Given the description of an element on the screen output the (x, y) to click on. 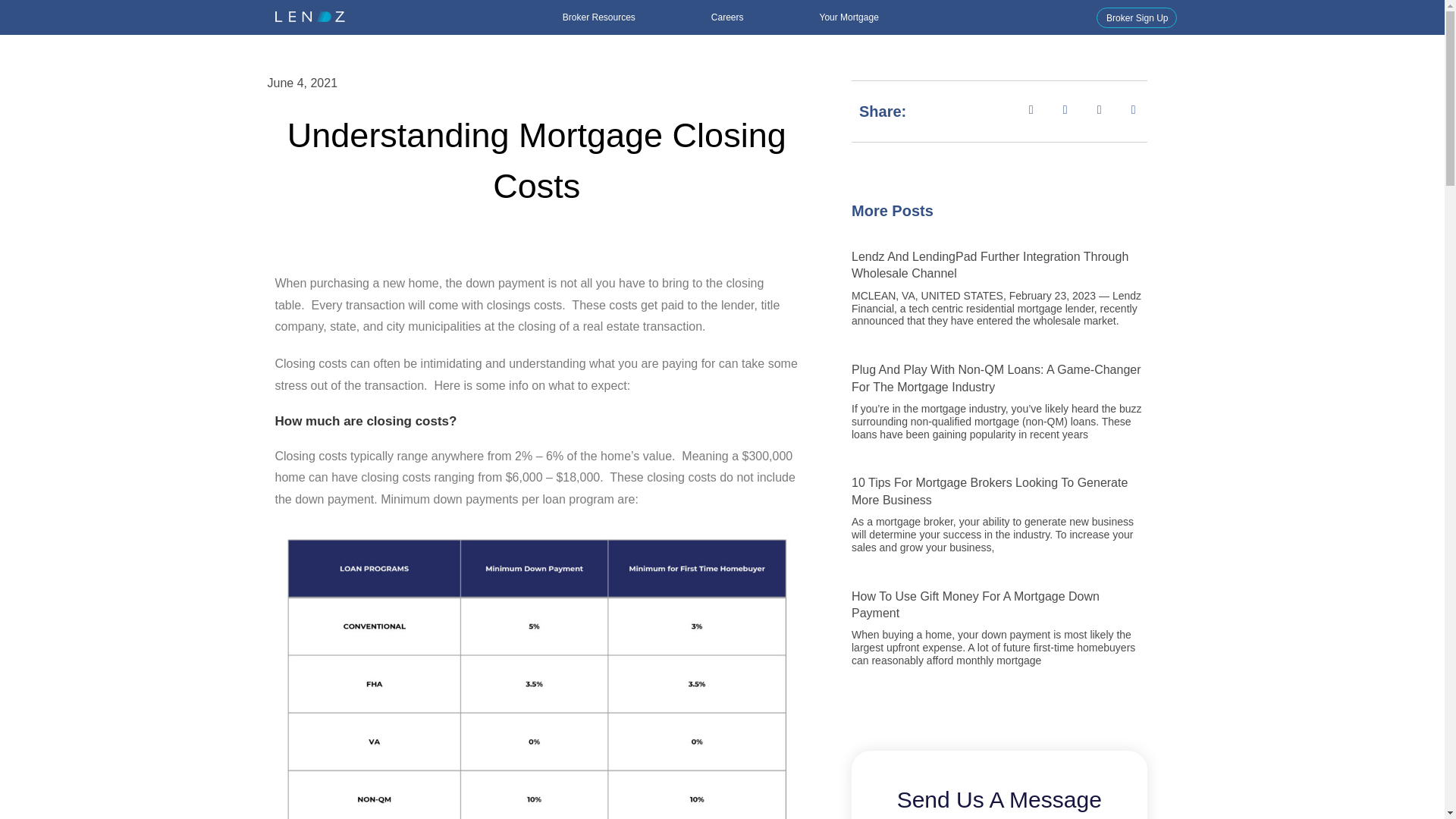
Broker Resources (598, 17)
Your Mortgage (849, 17)
Careers (726, 17)
Broker Sign Up (1136, 17)
June 4, 2021 (301, 83)
How To Use Gift Money For A Mortgage Down Payment (975, 604)
